Given the description of an element on the screen output the (x, y) to click on. 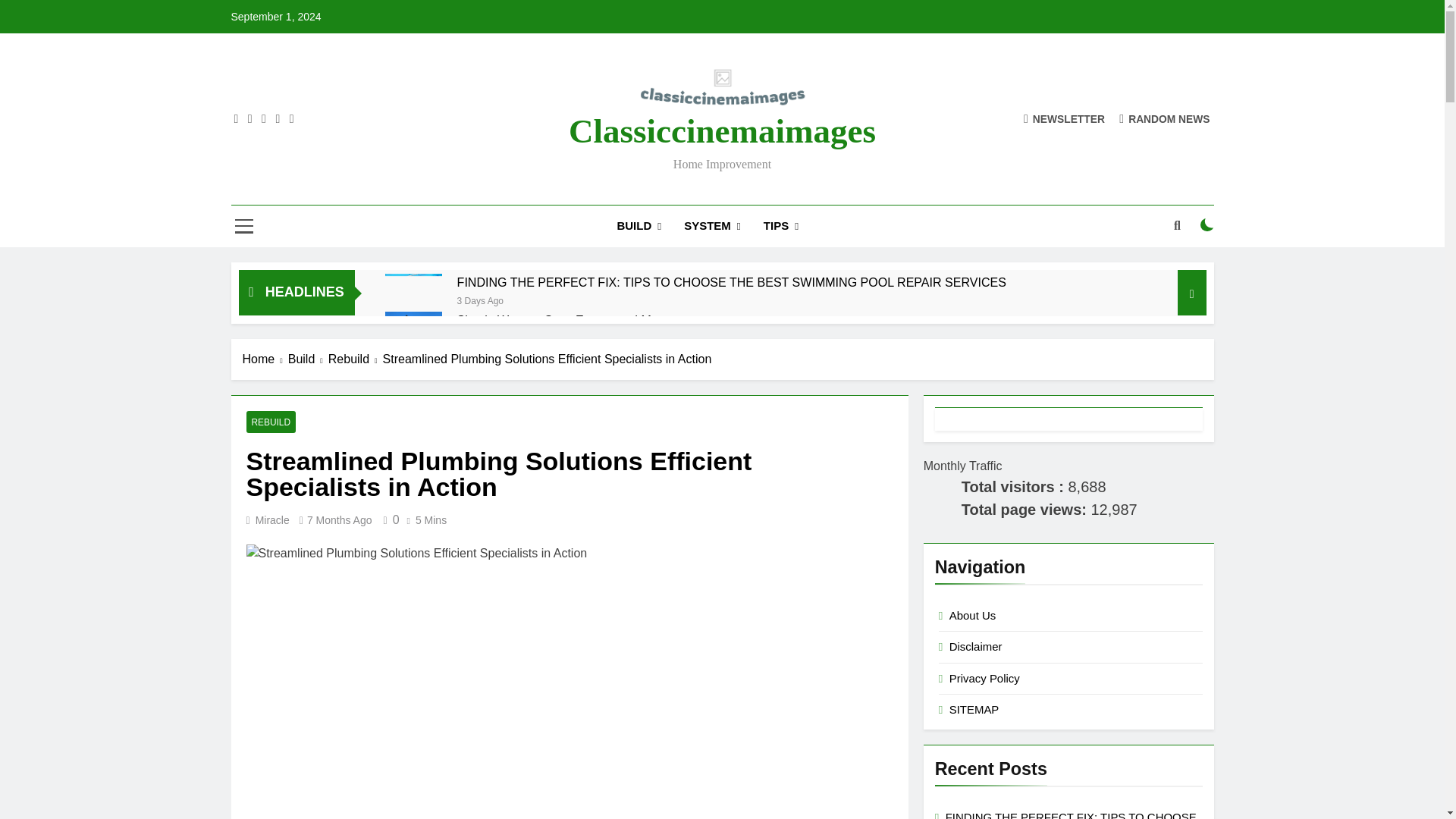
NEWSLETTER (1064, 118)
RANDOM NEWS (1164, 118)
3 Days Ago (480, 299)
Simple Ways to Save Energy and Money (567, 319)
TIPS (780, 226)
Simple Ways to Save Energy and Money (413, 332)
BUILD (638, 226)
Classiccinemaimages (722, 130)
